Given the description of an element on the screen output the (x, y) to click on. 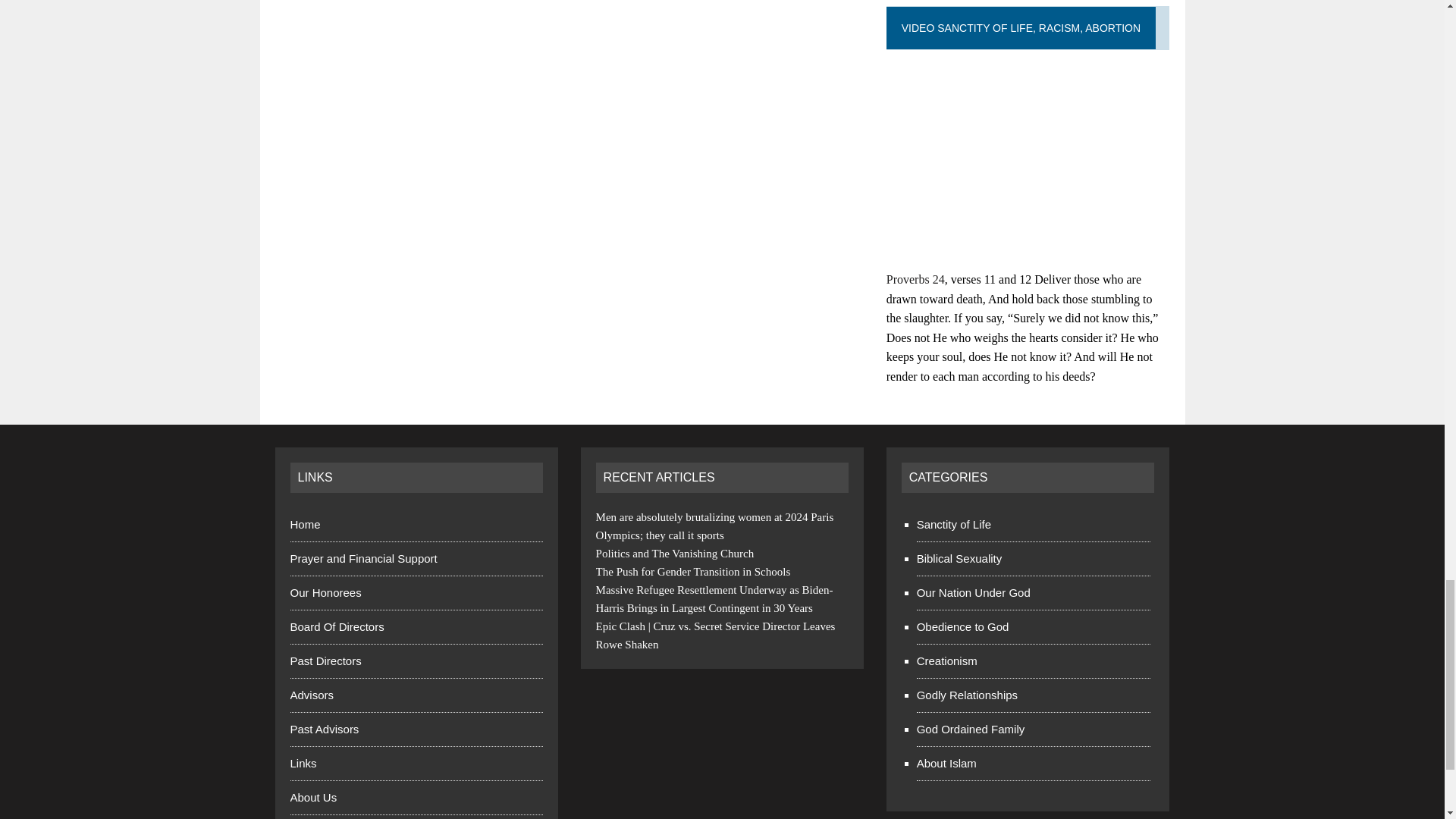
READVERSE Proverbs 24 (915, 278)
